Given the description of an element on the screen output the (x, y) to click on. 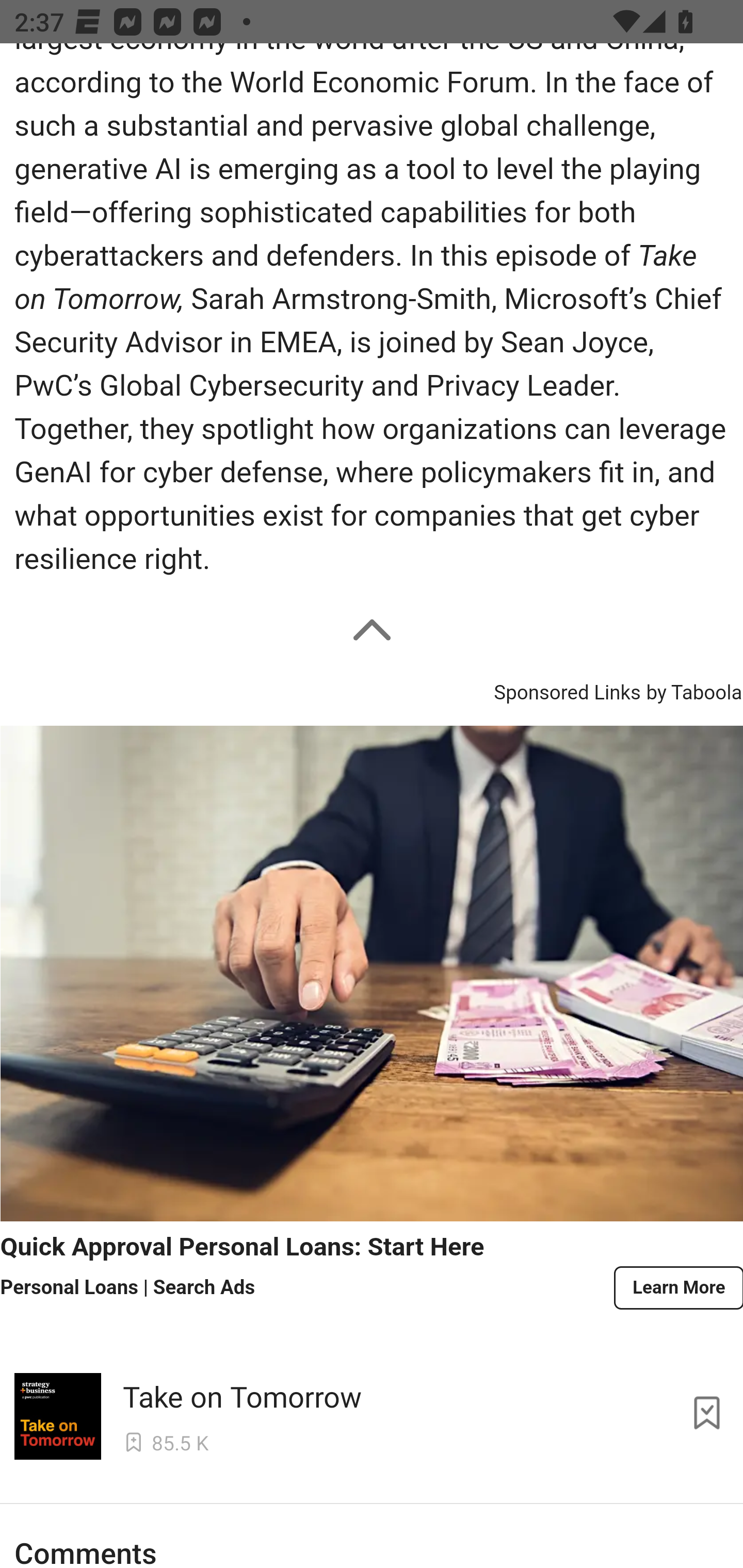
Sponsored Links (566, 689)
by Taboola (693, 689)
Learn More (677, 1288)
Take on Tomorrow  85.5 K Subscribe (371, 1412)
Subscribe (706, 1412)
